Given the description of an element on the screen output the (x, y) to click on. 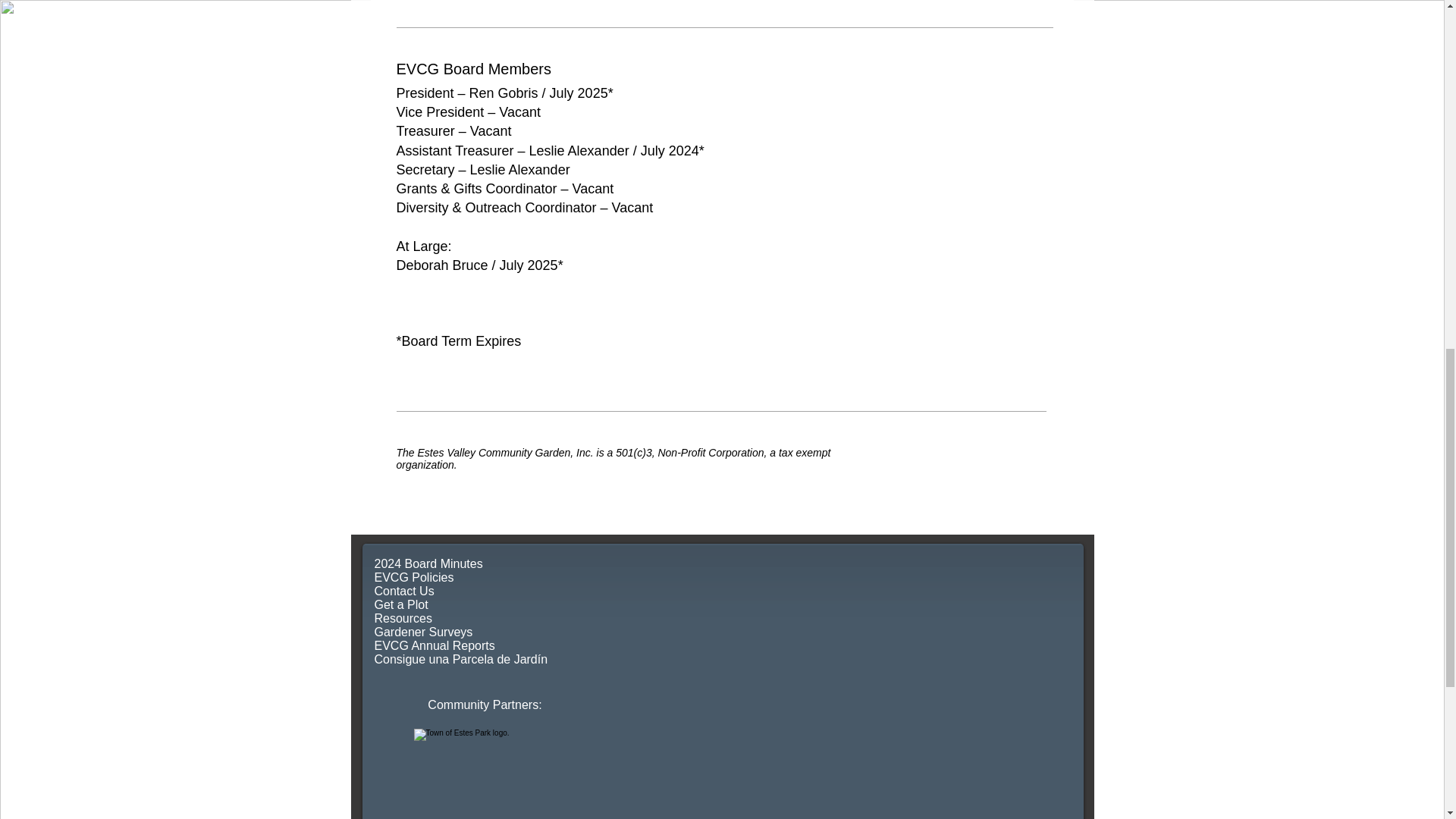
EVCG Annual Reports (434, 645)
Gardener Surveys (423, 631)
Contact Us   (407, 590)
Get a Plot (401, 604)
EVCG Policies  (415, 576)
2024 Board Minutes (428, 563)
Resources (403, 617)
